Given the description of an element on the screen output the (x, y) to click on. 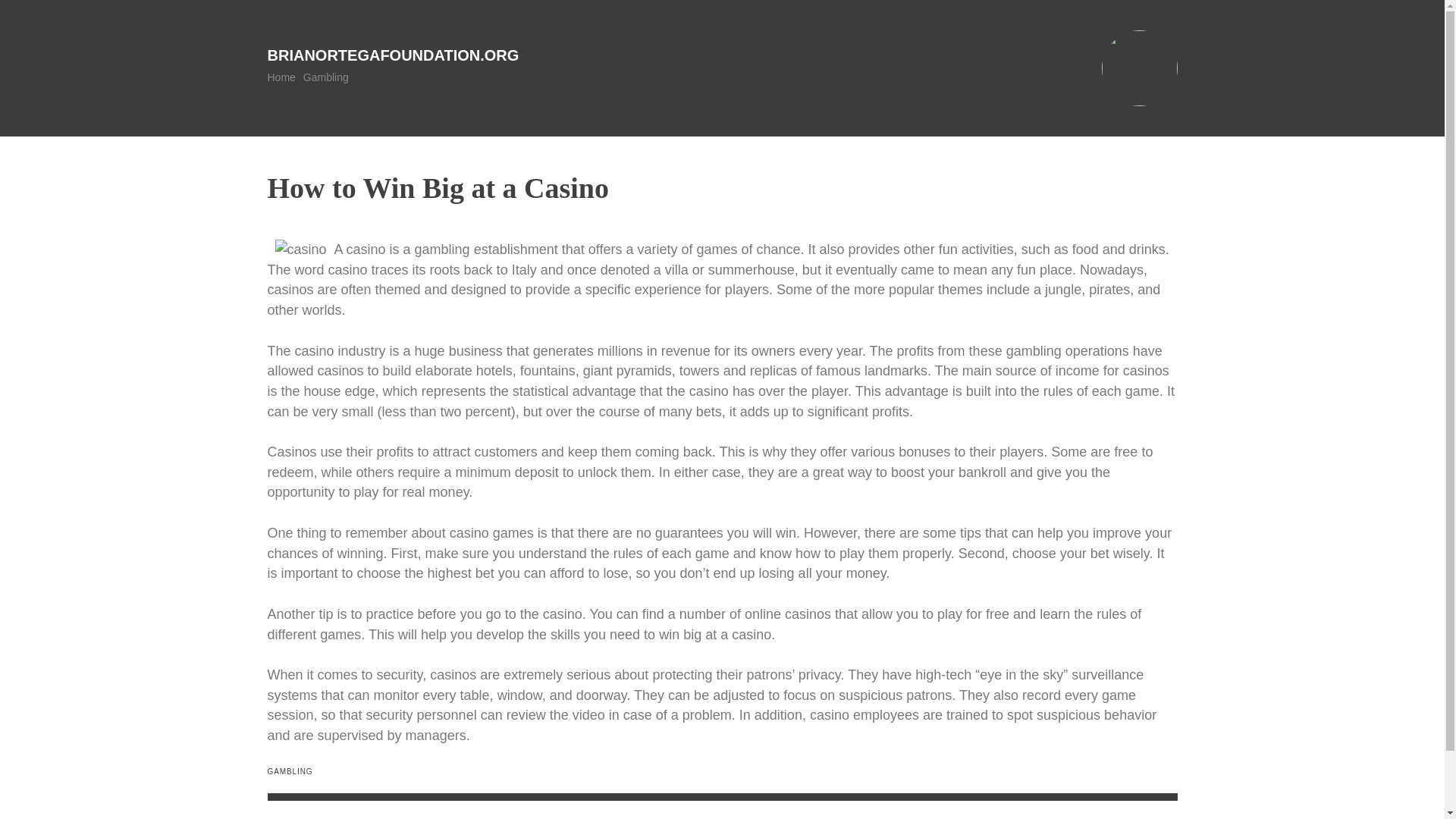
BRIANORTEGAFOUNDATION.ORG (392, 54)
Gambling (325, 77)
Brianortegafoundation.org (392, 54)
Home (280, 77)
GAMBLING (289, 771)
